Given the description of an element on the screen output the (x, y) to click on. 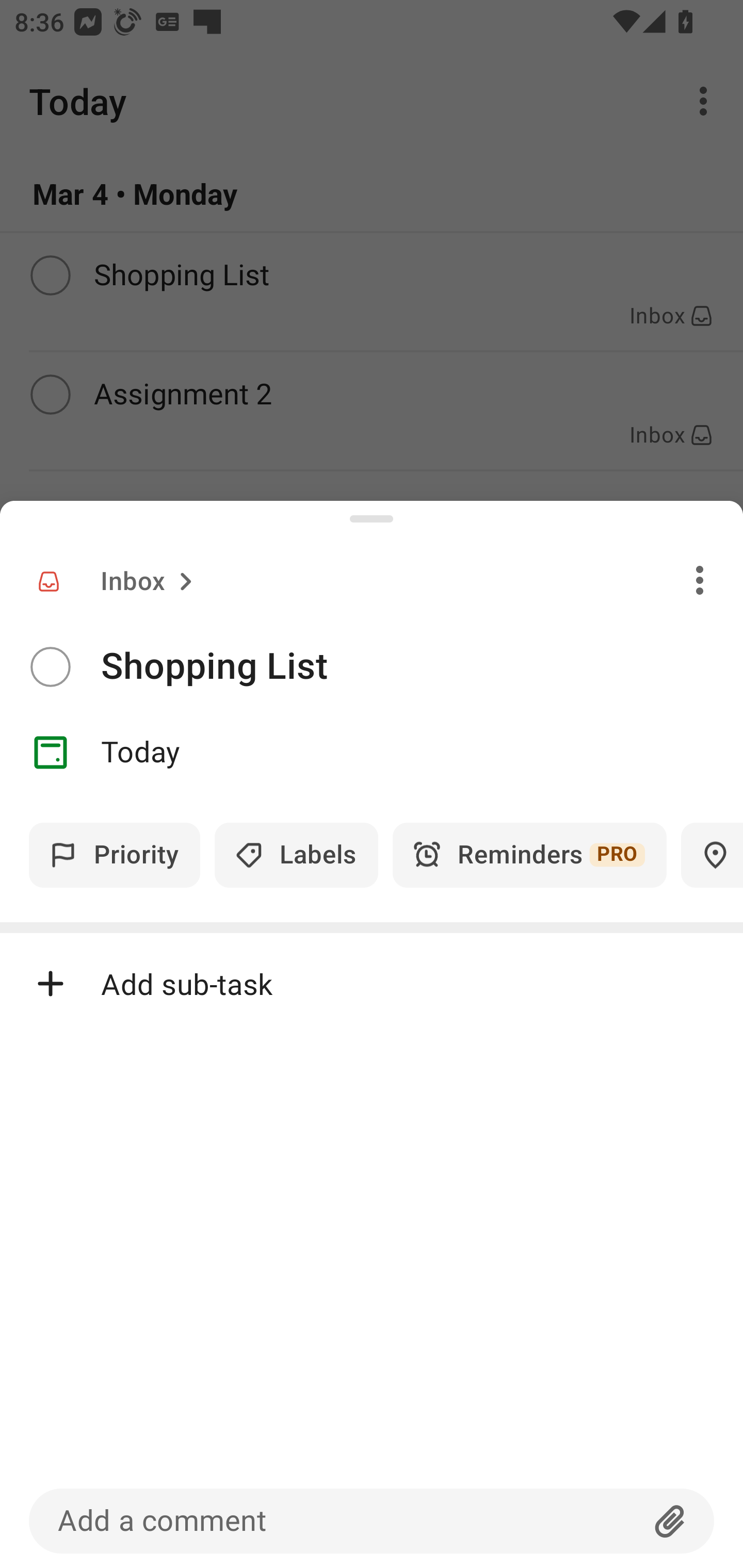
Overflow menu (699, 580)
Complete (50, 667)
Shopping List​ (422, 666)
Date Today (371, 752)
Priority (113, 855)
Labels (296, 855)
Reminders PRO (529, 855)
Locations PRO (712, 855)
Add sub-task (371, 983)
Add a comment Attachment (371, 1520)
Attachment (670, 1520)
